Given the description of an element on the screen output the (x, y) to click on. 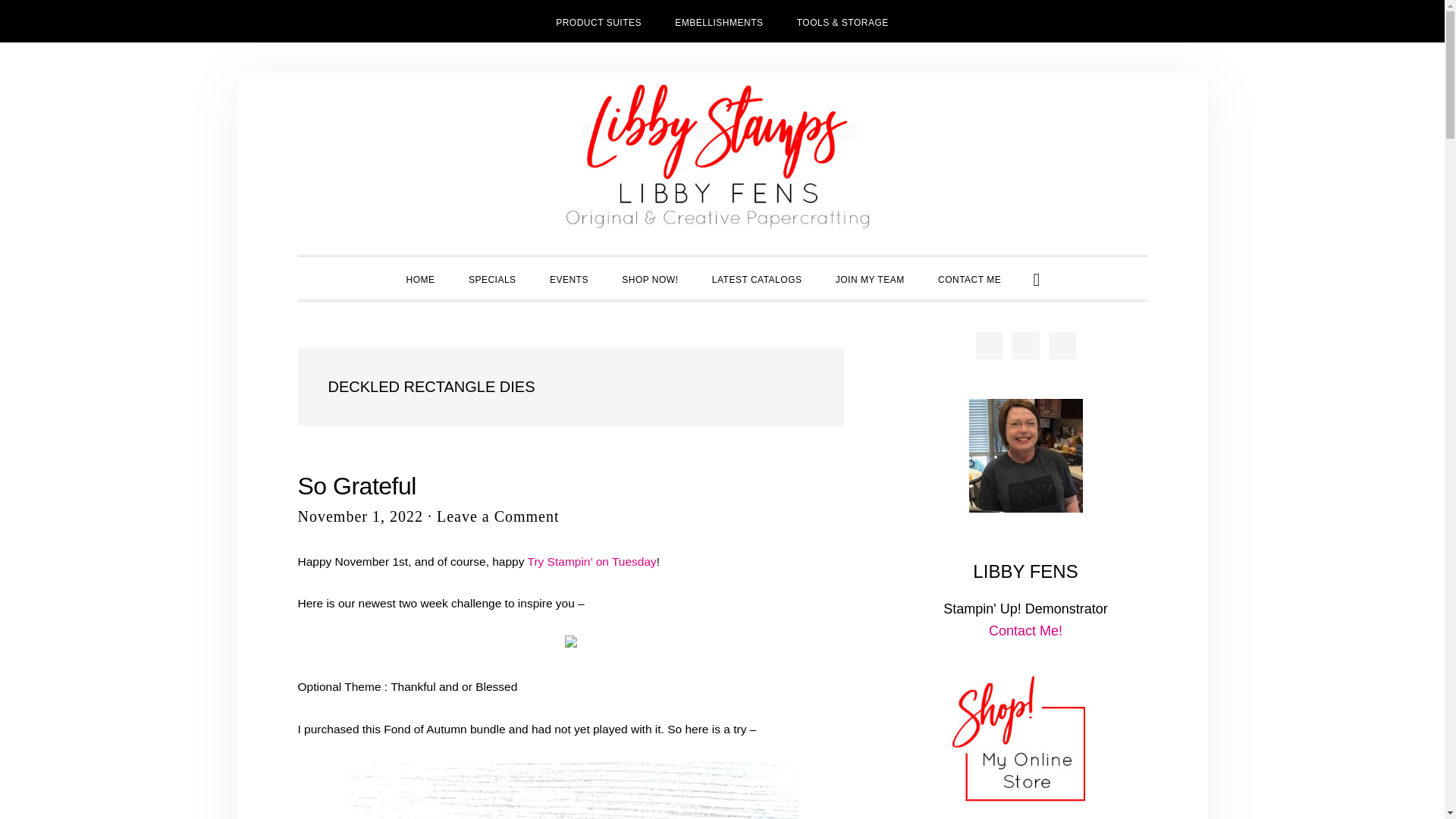
SPECIALS (491, 278)
EMBELLISHMENTS (718, 21)
EVENTS (569, 278)
SHOP NOW! (650, 278)
JOIN MY TEAM (870, 278)
Leave a Comment (497, 515)
LATEST CATALOGS (756, 278)
So Grateful (355, 485)
PRODUCT SUITES (598, 21)
